Given the description of an element on the screen output the (x, y) to click on. 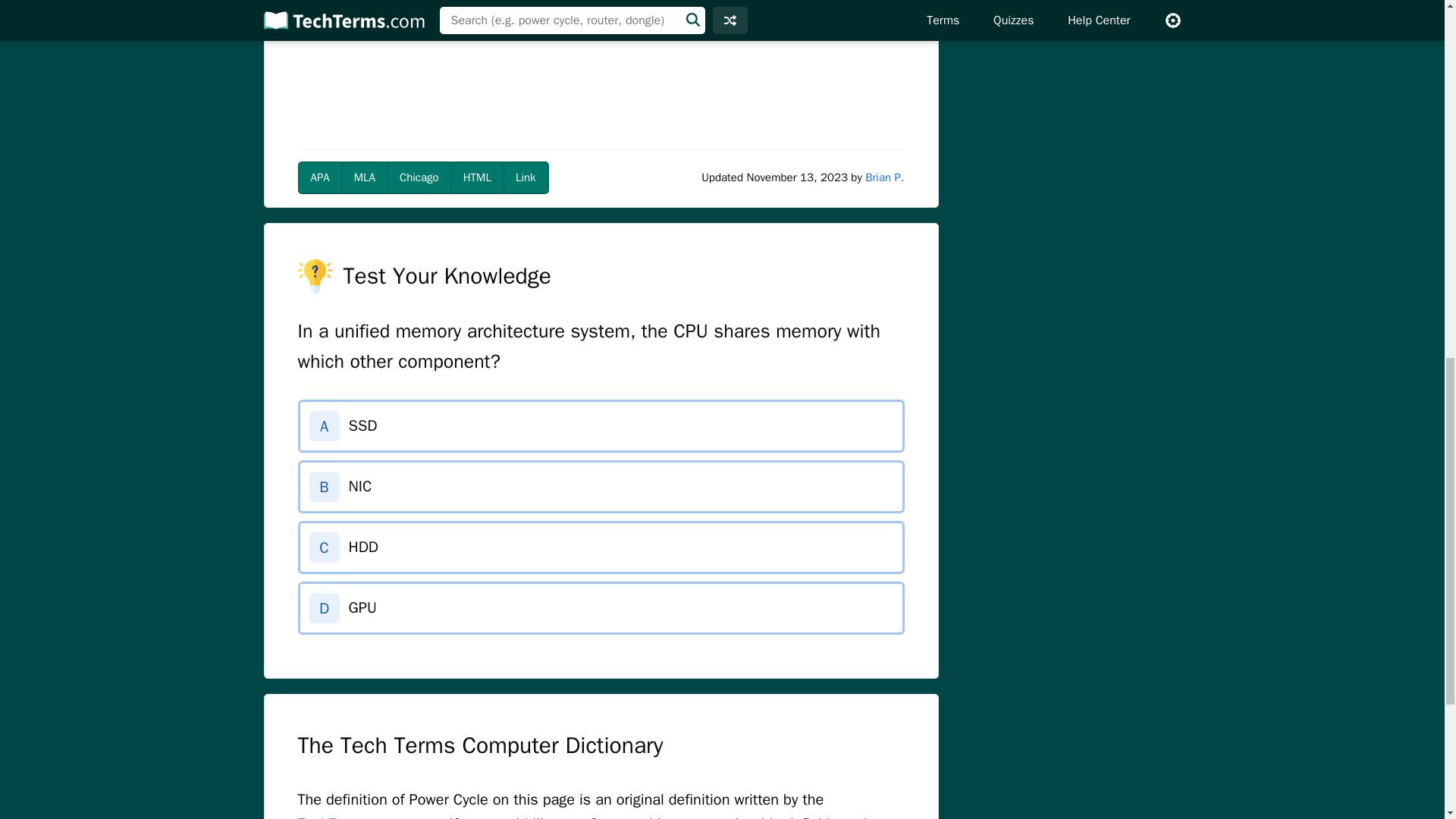
Link (524, 177)
APA (319, 177)
HTML (475, 177)
Brian P. (884, 177)
MLA (363, 177)
Chicago (418, 177)
file (642, 7)
